Given the description of an element on the screen output the (x, y) to click on. 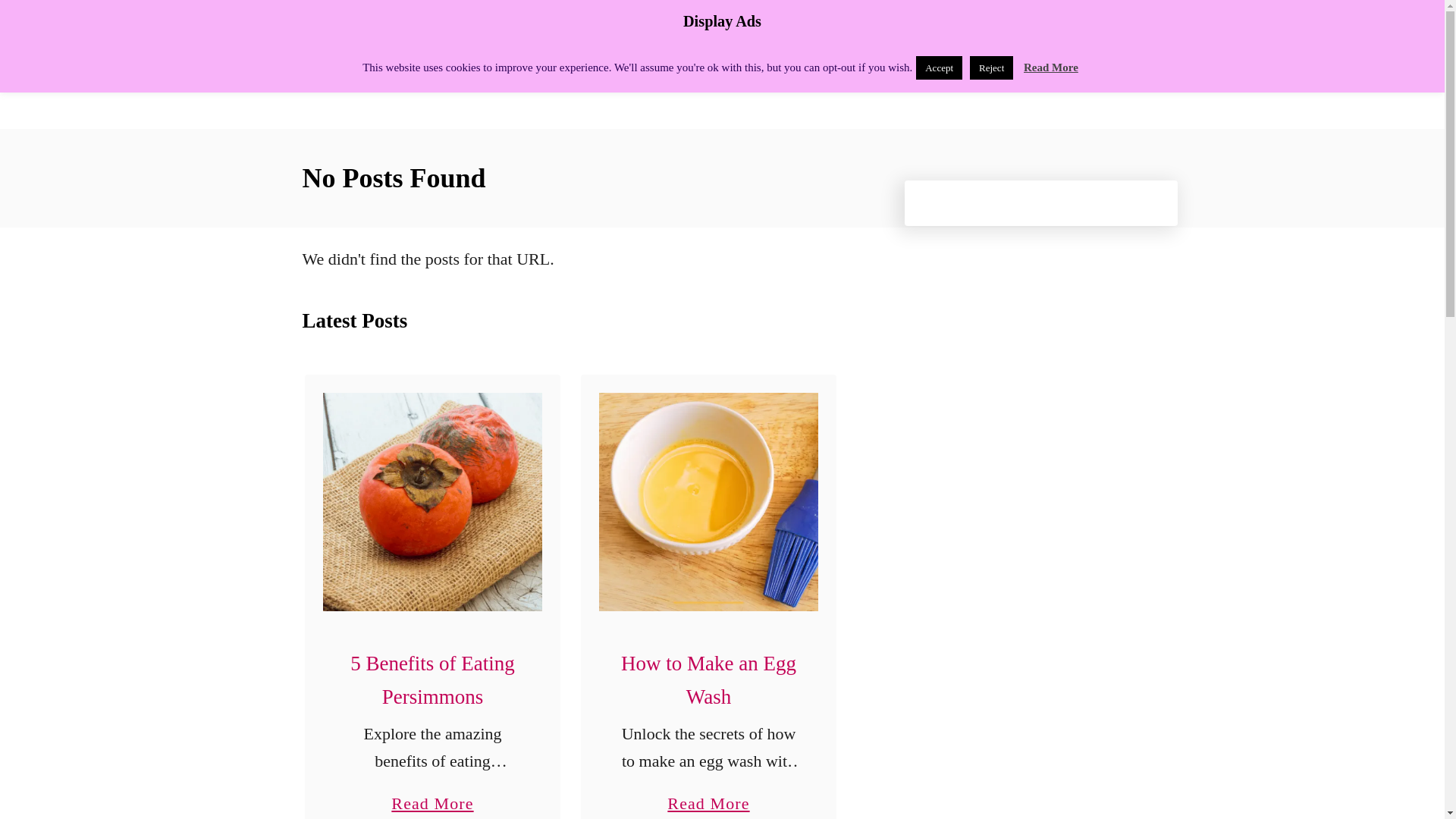
How to Make an Egg Wash (708, 502)
Accept (938, 67)
5 Benefits of Eating Persimmons (432, 502)
5 Benefits of Eating Persimmons (432, 679)
Reject (991, 67)
Read More (432, 795)
Mommy's Memorandum (1050, 67)
How to Make an Egg Wash (433, 64)
